Given the description of an element on the screen output the (x, y) to click on. 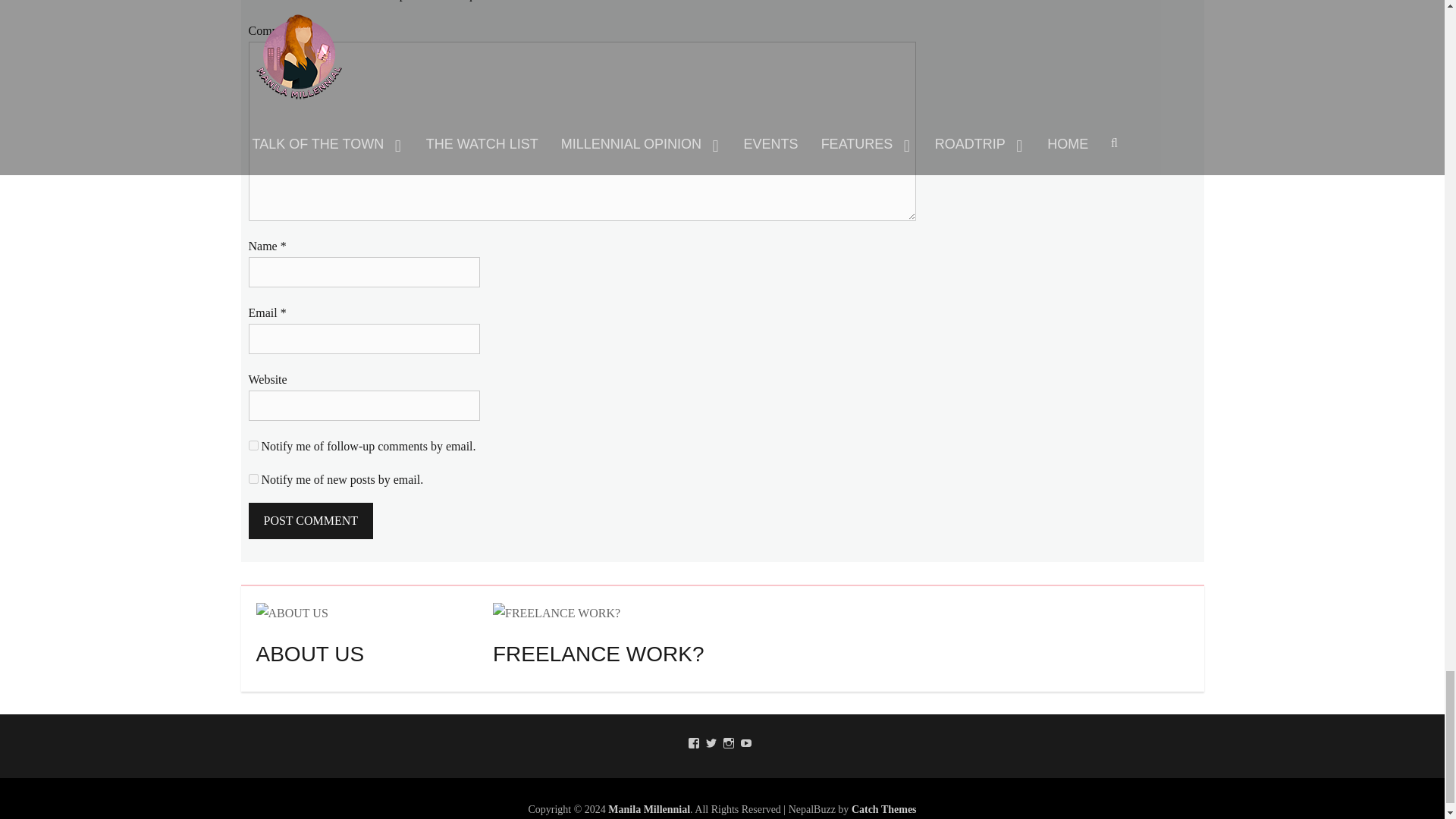
ABOUT US (292, 611)
FREELANCE WORK? (556, 611)
subscribe (253, 445)
FREELANCE WORK? (556, 613)
subscribe (253, 479)
Post Comment (311, 520)
ABOUT US (292, 613)
